Given the description of an element on the screen output the (x, y) to click on. 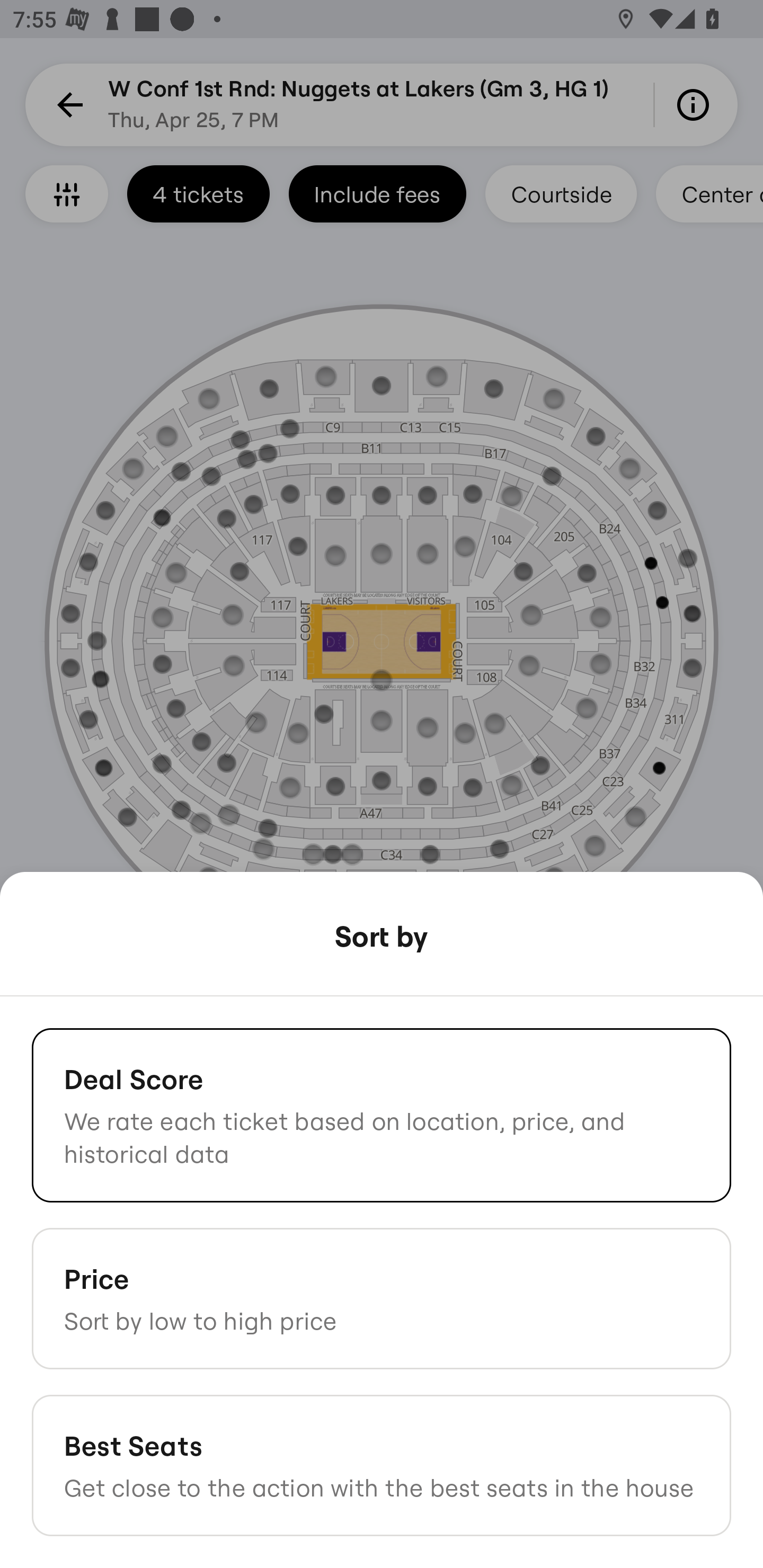
Price Sort by low to high price (381, 1297)
